Given the description of an element on the screen output the (x, y) to click on. 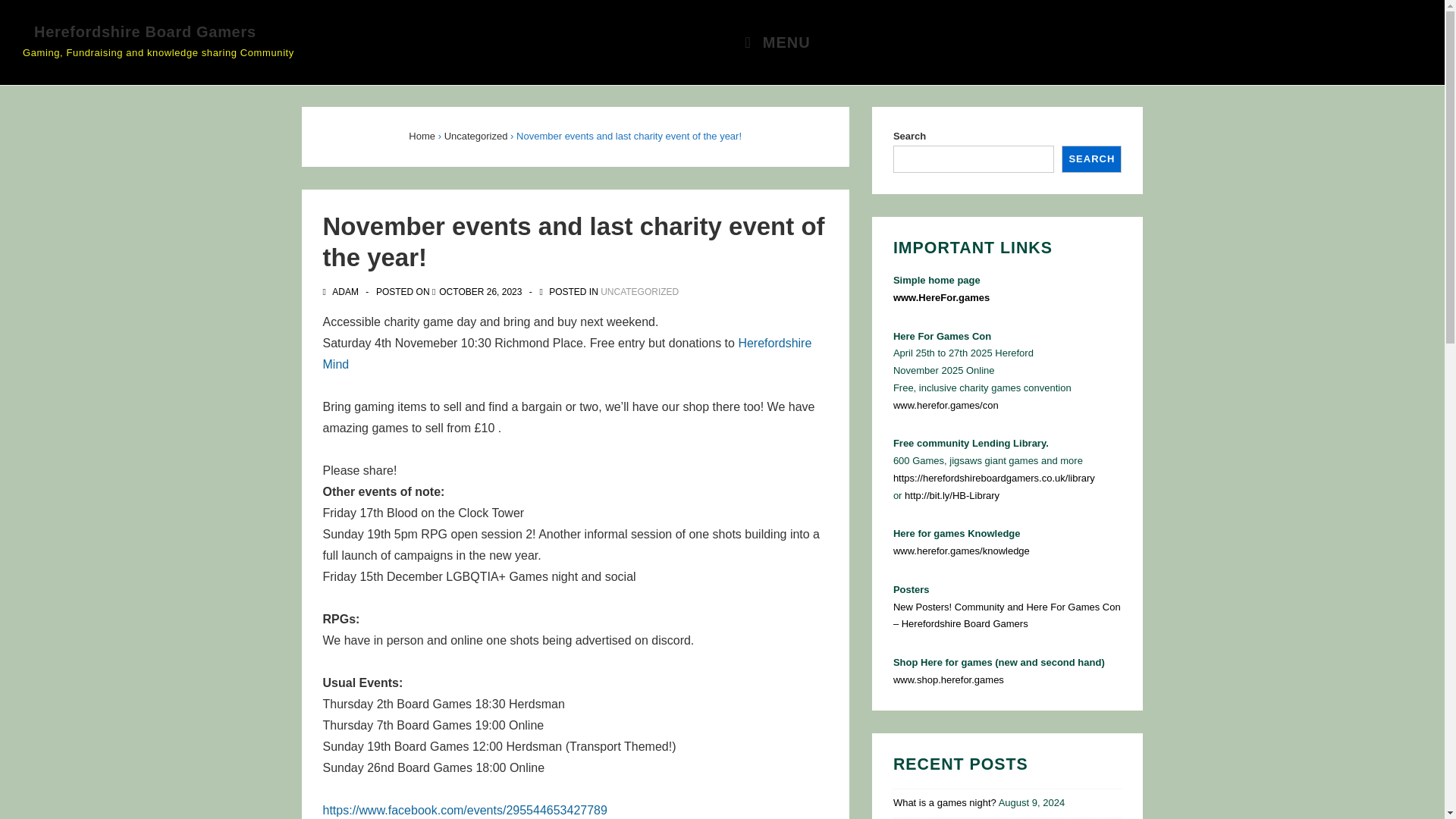
View all posts by Adam (342, 291)
November events and last charity event of the year! (480, 291)
Herefordshire Board Gamers (144, 31)
